Given the description of an element on the screen output the (x, y) to click on. 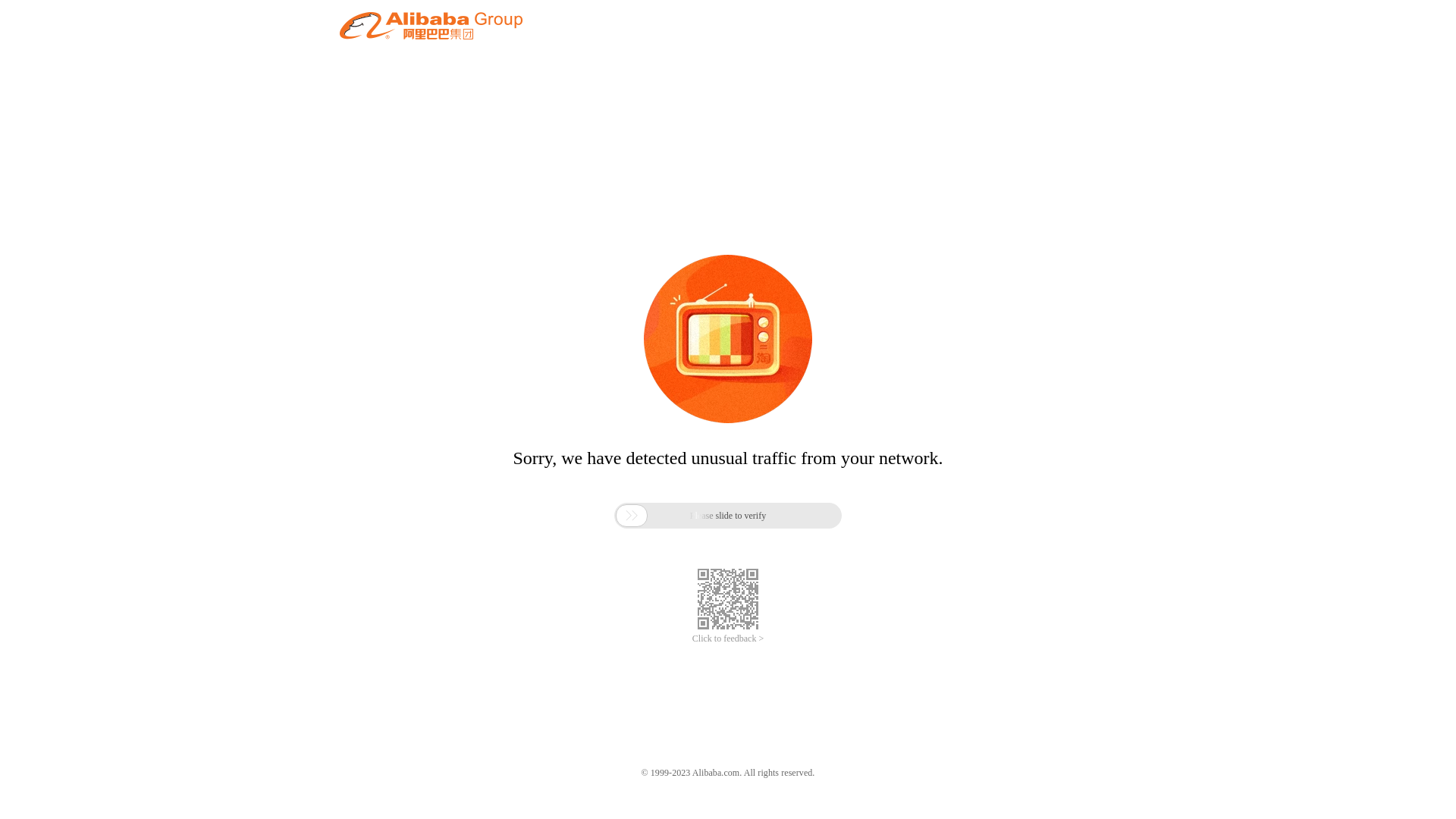
Click to feedback > Element type: text (727, 638)
